Given the description of an element on the screen output the (x, y) to click on. 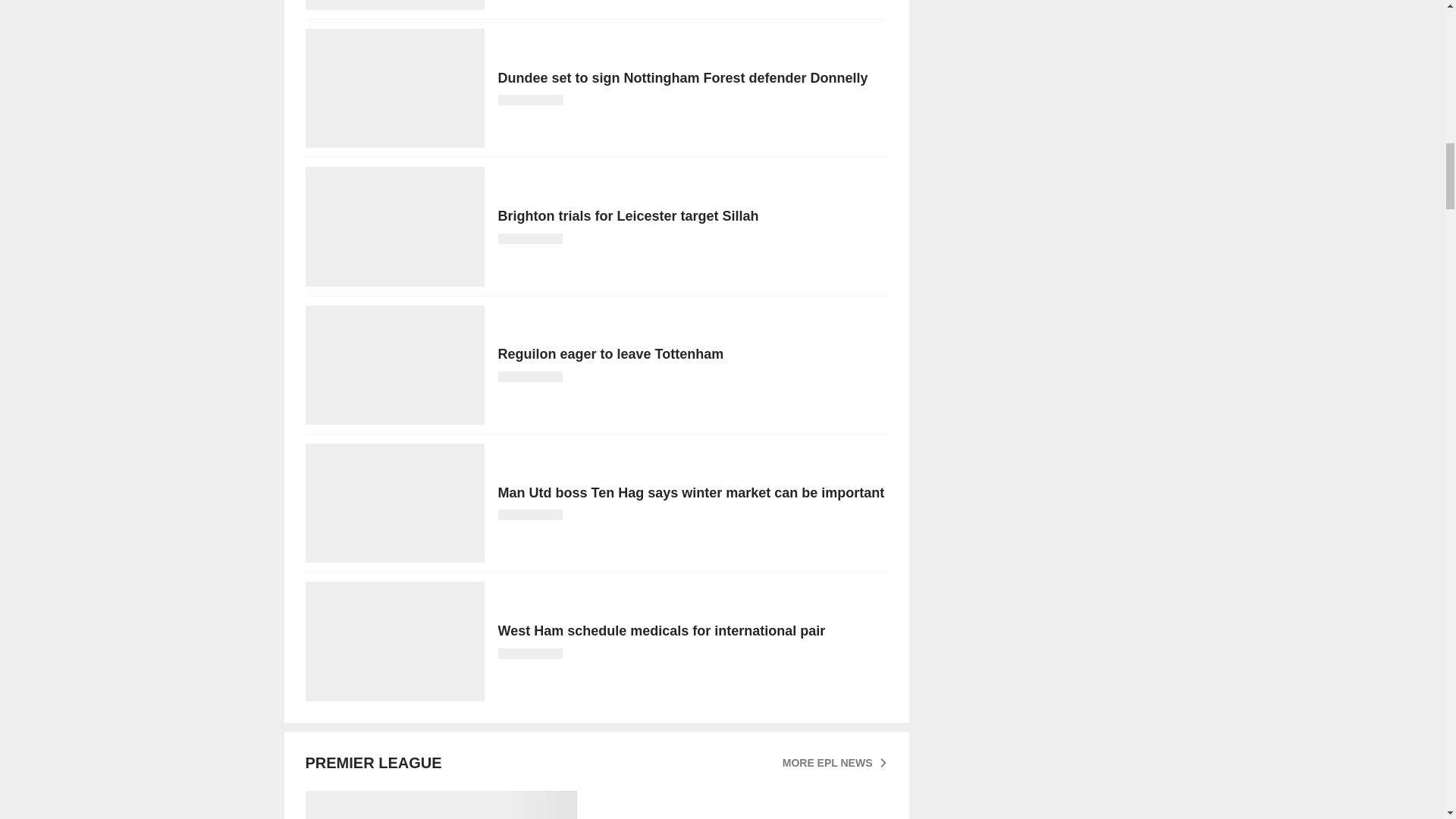
West Ham schedule medicals for international pair (595, 641)
MAN UTD PUSHING TO MAKE TRIPLE SIGNING RAID THIS WEEK (595, 805)
Man Utd boss Ten Hag says winter market can be important (595, 502)
Dundee set to sign Nottingham Forest defender Donnelly (595, 88)
Man Utd pushing to make triple signing raid this week (595, 805)
MORE EPL NEWS (835, 762)
Reguilon eager to leave Tottenham (595, 365)
West Ham try again for Nice defender Todibo (595, 4)
Man Utd boss Ten Hag says winter market can be important (595, 502)
West Ham try again for Nice defender Todibo (595, 4)
